Given the description of an element on the screen output the (x, y) to click on. 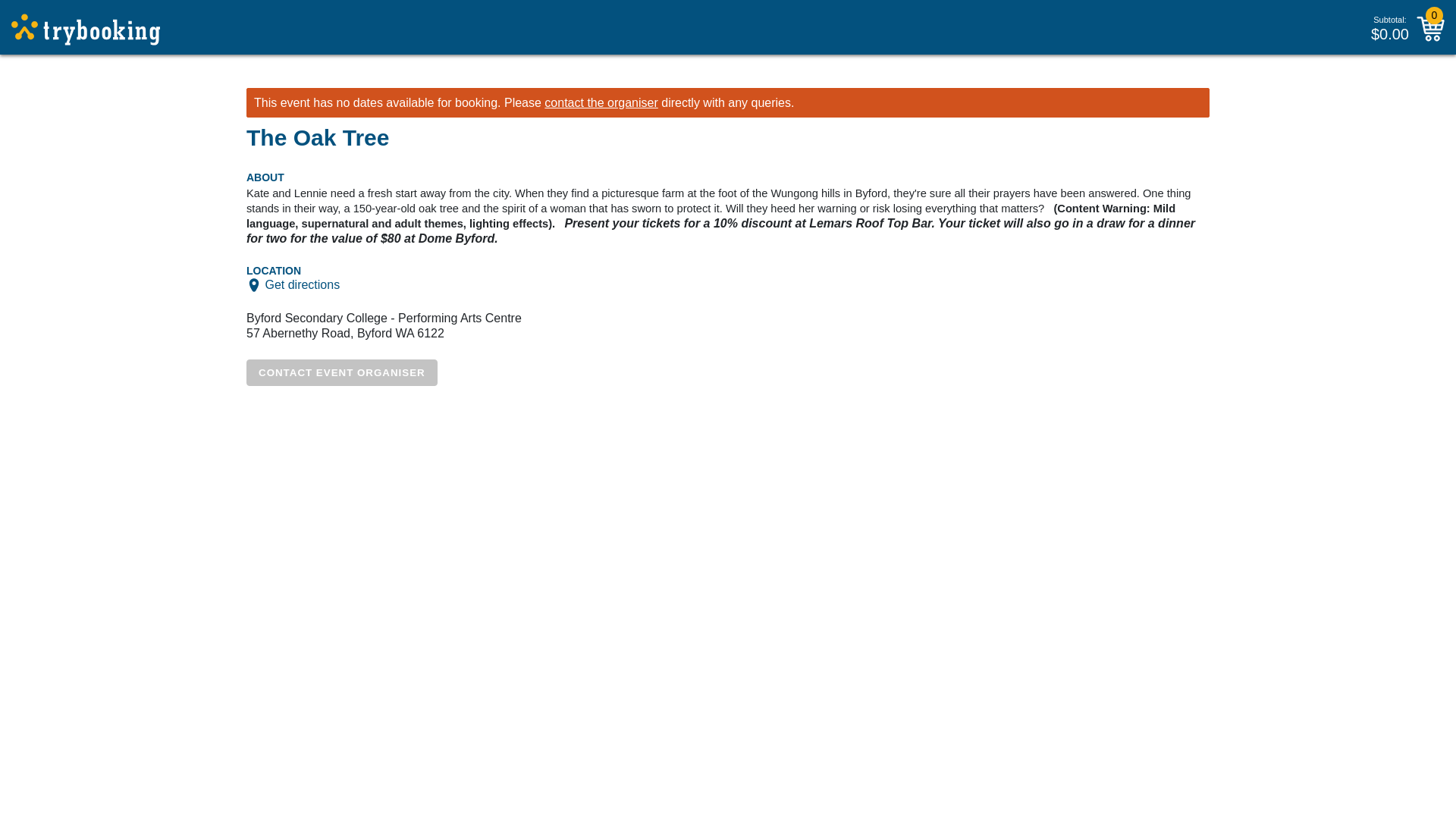
Get directions (301, 284)
contact the organiser (601, 102)
TryBooking (85, 29)
CONTACT EVENT ORGANISER (342, 372)
